Given the description of an element on the screen output the (x, y) to click on. 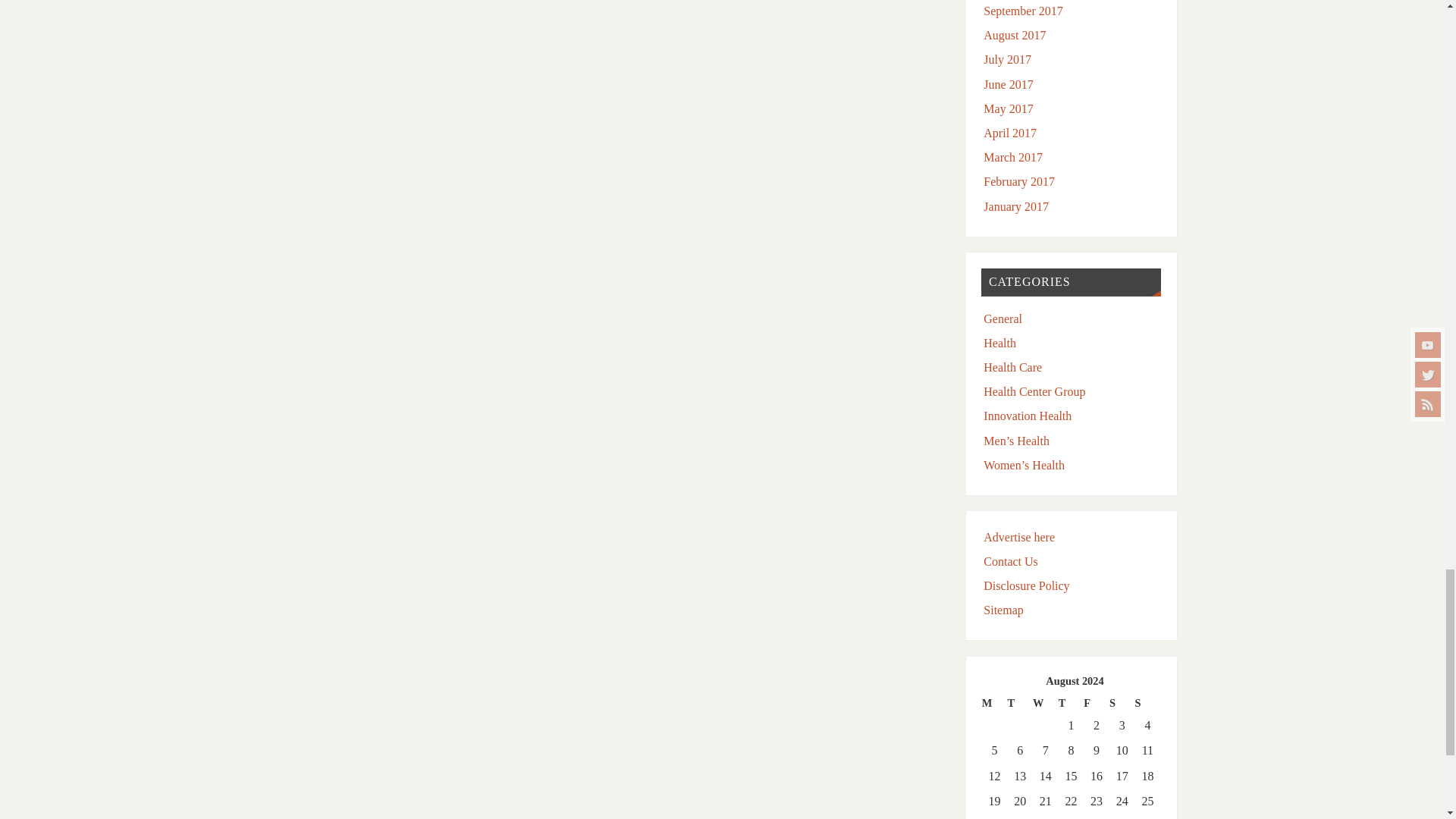
Friday (1096, 702)
Wednesday (1045, 702)
Monday (994, 702)
Tuesday (1019, 702)
Sunday (1147, 702)
Thursday (1071, 702)
Saturday (1122, 702)
